Given the description of an element on the screen output the (x, y) to click on. 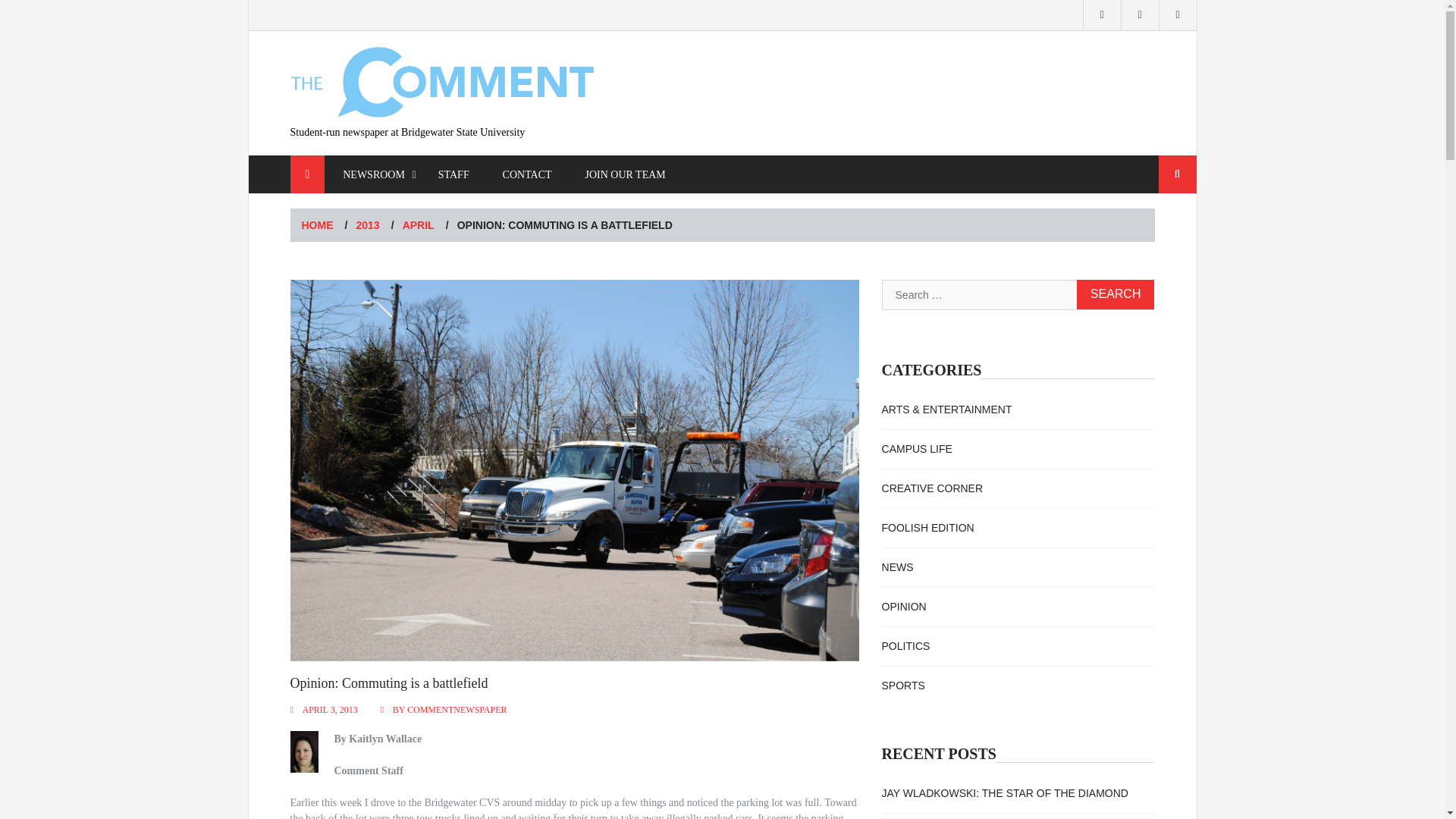
JOIN OUR TEAM (624, 174)
STAFF (453, 174)
Search (1177, 174)
Search (1115, 294)
2013 (368, 224)
FACEBOOK (1177, 15)
TWITTER (1139, 15)
NEWSROOM (373, 174)
Search (1115, 294)
APRIL (418, 224)
Search (1177, 174)
CONTACT (527, 174)
APRIL 3, 2013 (328, 709)
INSTAGRAM (1102, 15)
Search (1177, 174)
